Given the description of an element on the screen output the (x, y) to click on. 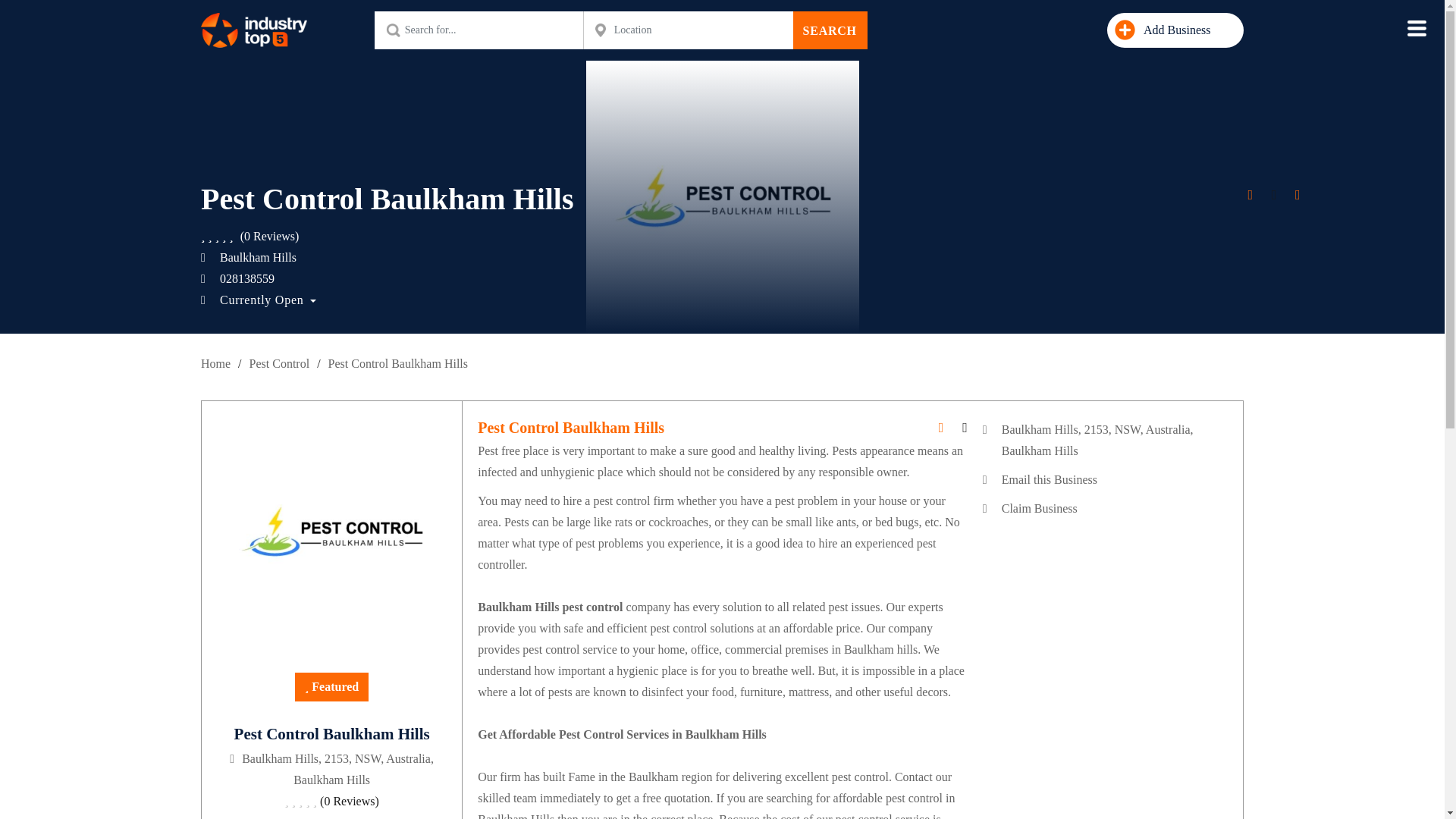
Baulkham Hills (248, 256)
Pest Control (279, 363)
Home (215, 363)
028138559 (237, 278)
SEARCH (829, 30)
Currently Open (257, 300)
Add Business (1174, 30)
Email this Business (1049, 479)
Featured (331, 686)
Pest Control Baulkham Hills (398, 363)
